Given the description of an element on the screen output the (x, y) to click on. 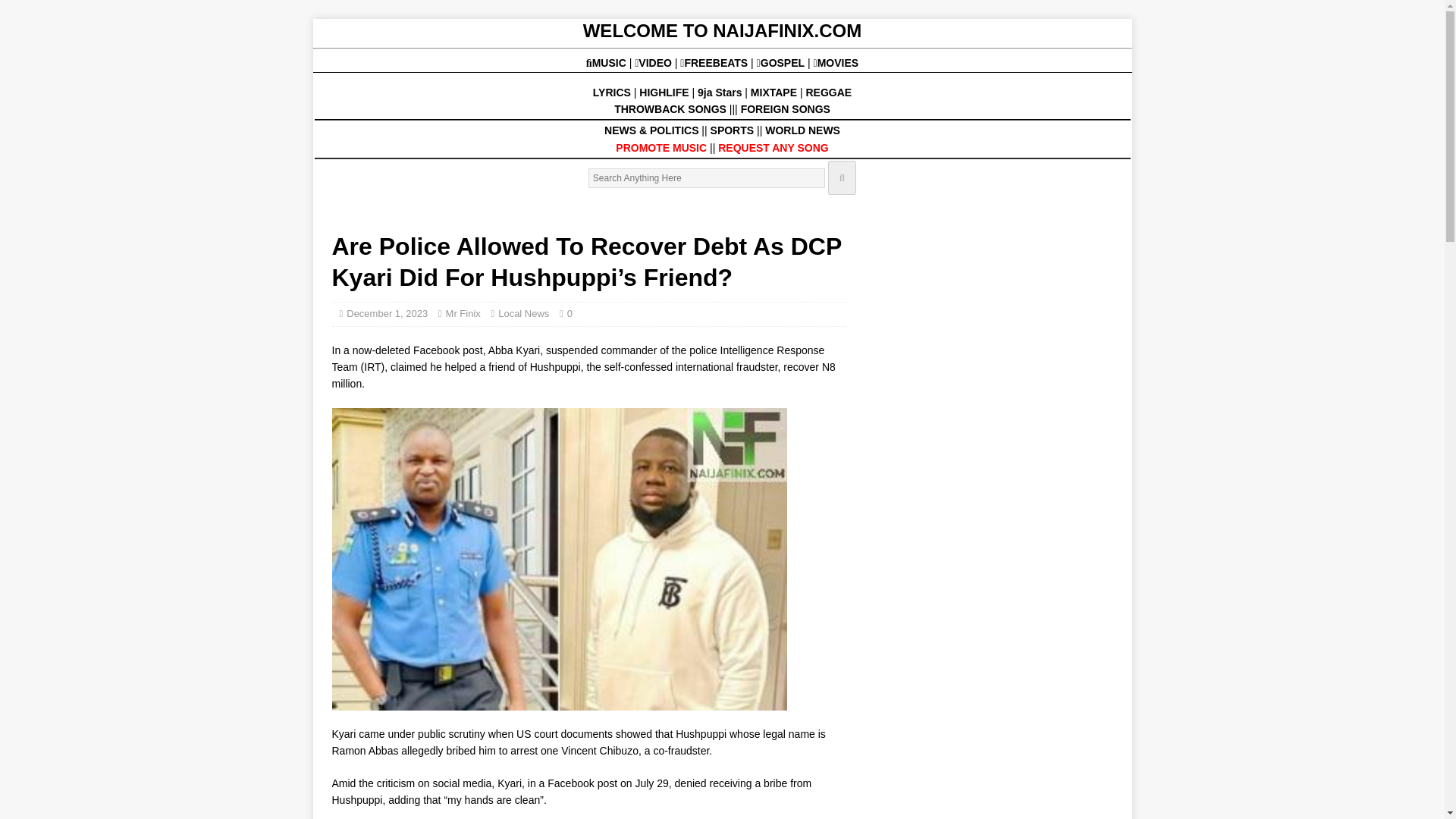
9ja Stars (719, 92)
FOREIGN SONGS (785, 109)
REQUEST ANY SONG (772, 147)
WELCOME TO NAIJAFINIX.COM (722, 30)
December 1, 2023 (387, 313)
GOSPEL (782, 62)
Local News (522, 313)
MOVIES (836, 62)
PROMOTE MUSIC (660, 147)
WORLD NEWS (802, 130)
FREEBEATS (715, 62)
Mr Finix (462, 313)
VIDEO (654, 62)
THROWBACK SONGS (670, 109)
SPORTS (732, 130)
